Given the description of an element on the screen output the (x, y) to click on. 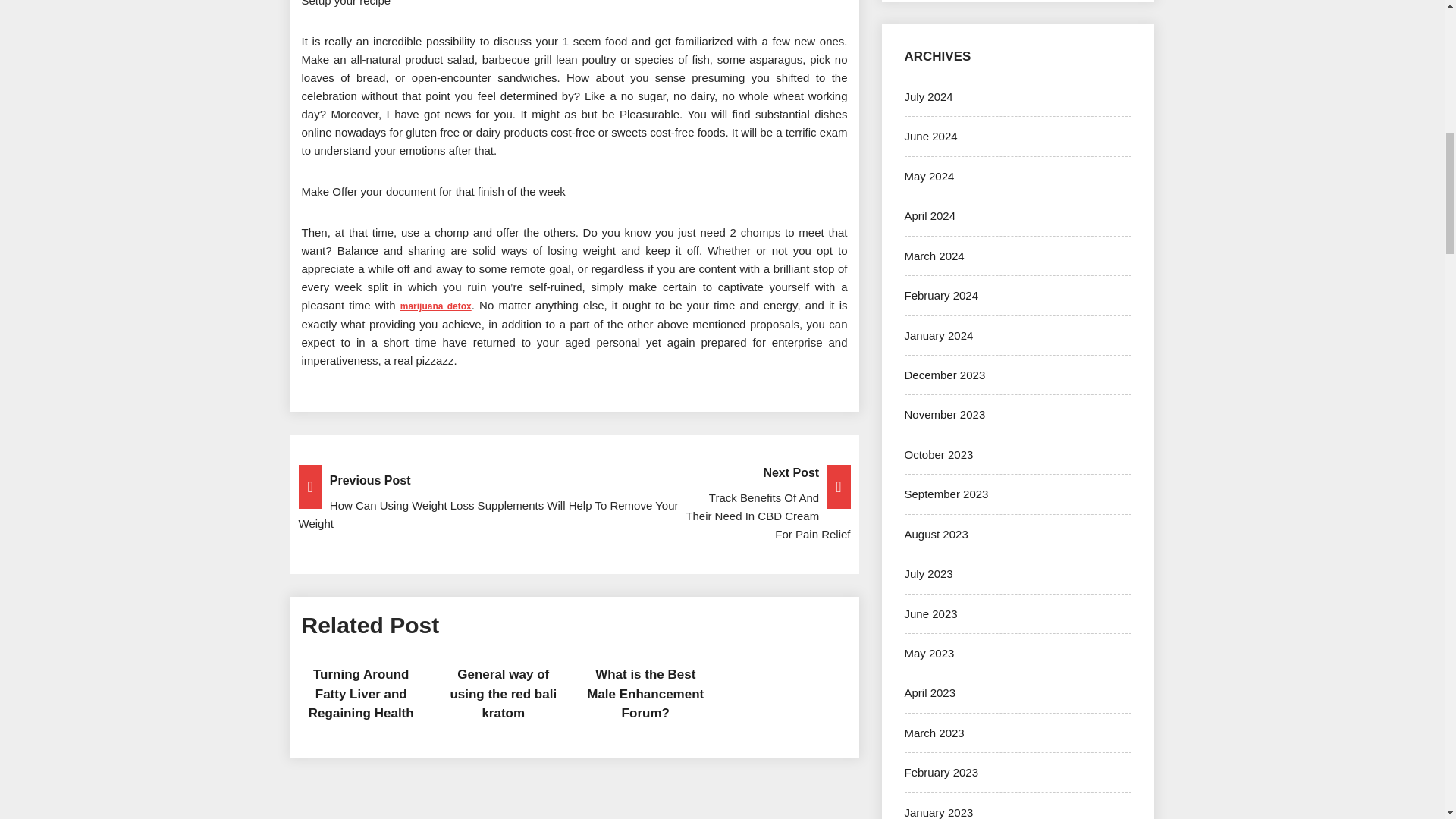
December 2023 (944, 374)
June 2024 (930, 135)
January 2024 (938, 335)
August 2023 (936, 533)
Turning Around Fatty Liver and Regaining Health (360, 693)
June 2023 (930, 612)
April 2023 (929, 692)
March 2024 (933, 255)
February 2023 (941, 771)
May 2023 (928, 653)
February 2024 (941, 295)
General way of using the red bali kratom (502, 693)
marijuana detox (435, 305)
July 2023 (928, 573)
November 2023 (944, 413)
